Given the description of an element on the screen output the (x, y) to click on. 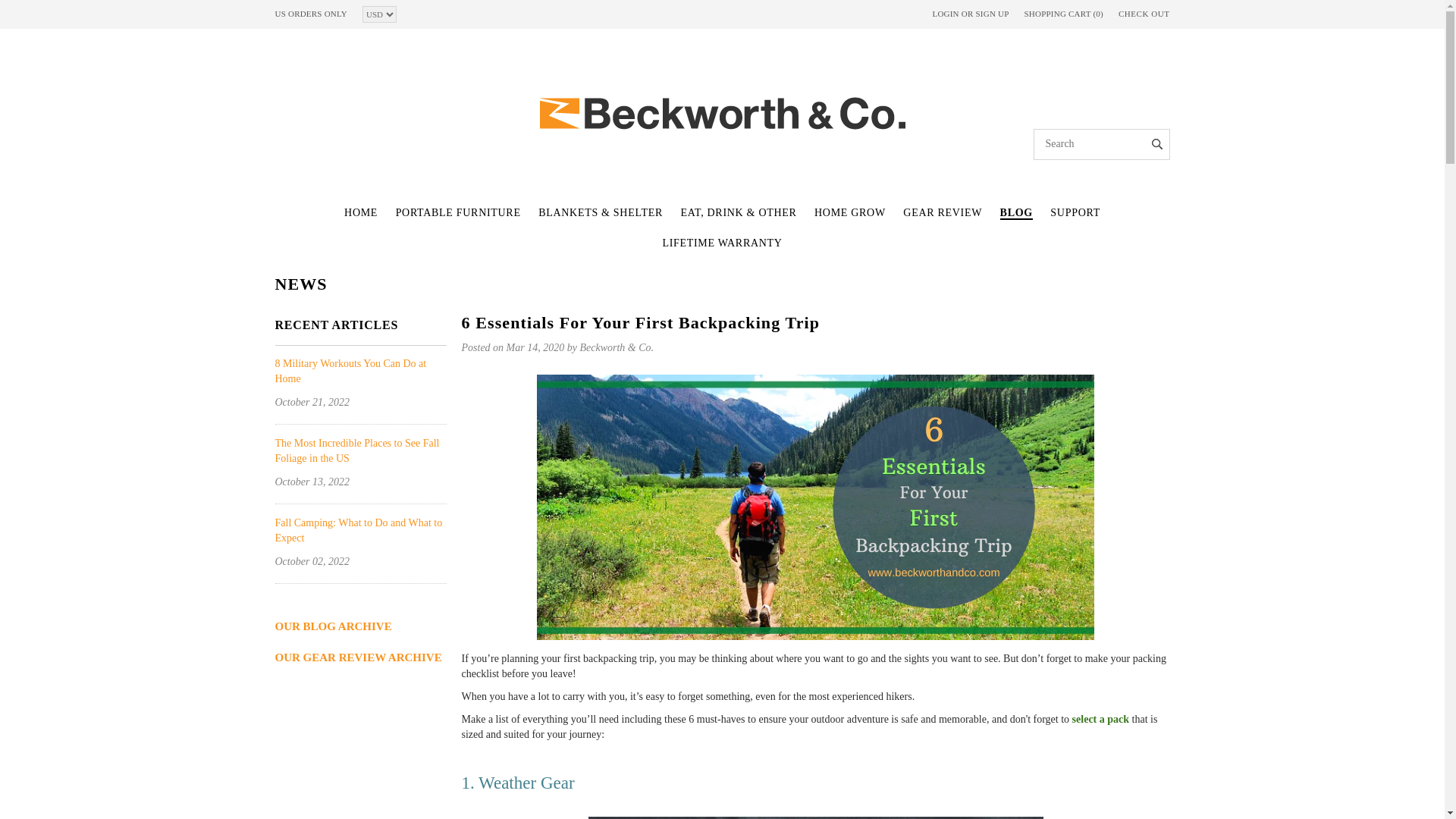
HOME (360, 212)
GEAR REVIEW (941, 212)
LOGIN (944, 13)
PORTABLE FURNITURE (458, 212)
Search (1158, 139)
HOME GROW (849, 212)
SIGN UP (992, 13)
CHECK OUT (1144, 14)
Search (1158, 139)
